Given the description of an element on the screen output the (x, y) to click on. 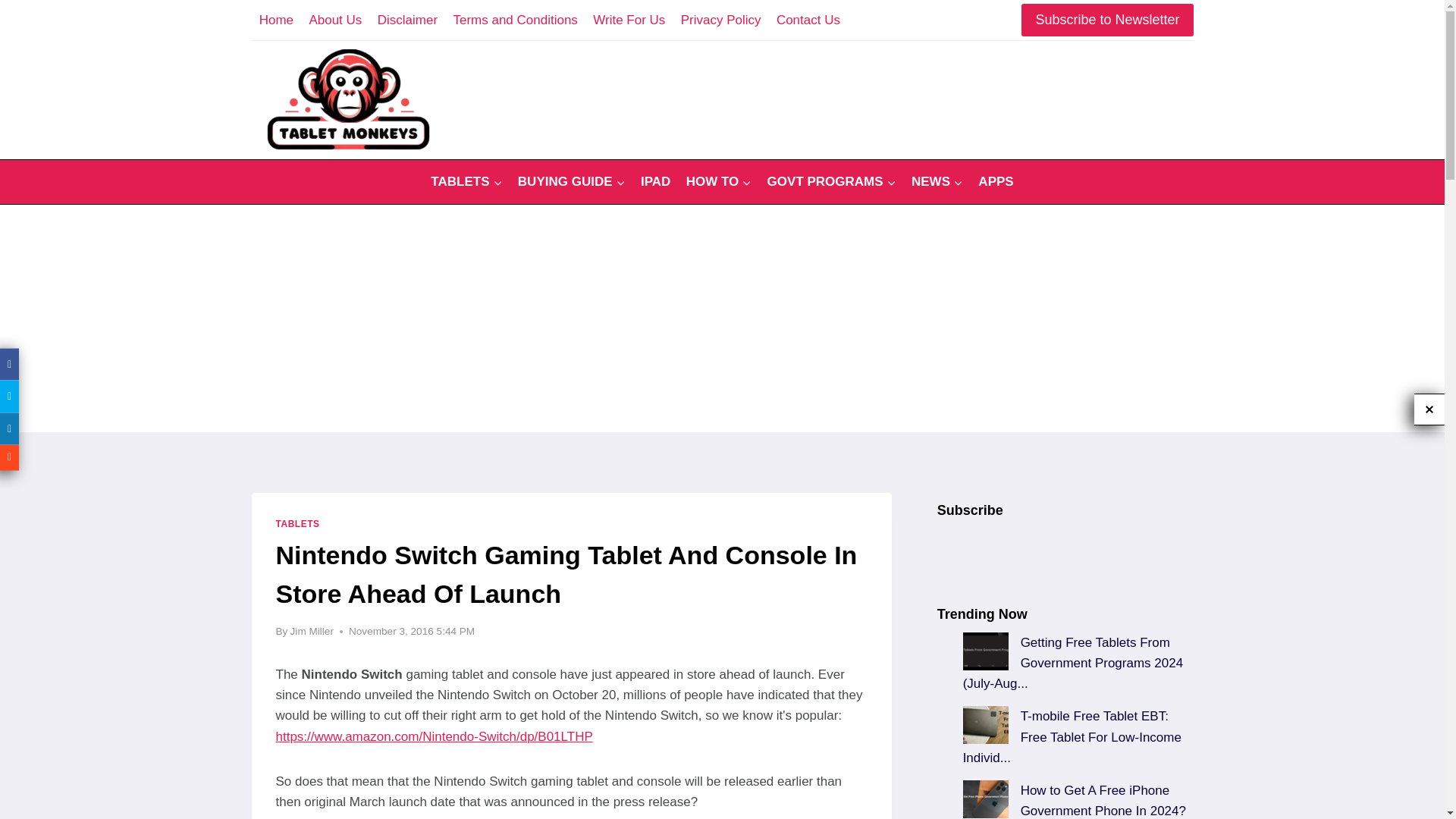
Terms and Conditions (515, 19)
IPAD (655, 181)
NEWS (937, 181)
APPS (996, 181)
TABLETS (467, 181)
Disclaimer (407, 19)
GOVT PROGRAMS (830, 181)
Write For Us (628, 19)
Privacy Policy (720, 19)
TABLETS (298, 523)
About Us (335, 19)
Contact Us (807, 19)
HOW TO (718, 181)
